Given the description of an element on the screen output the (x, y) to click on. 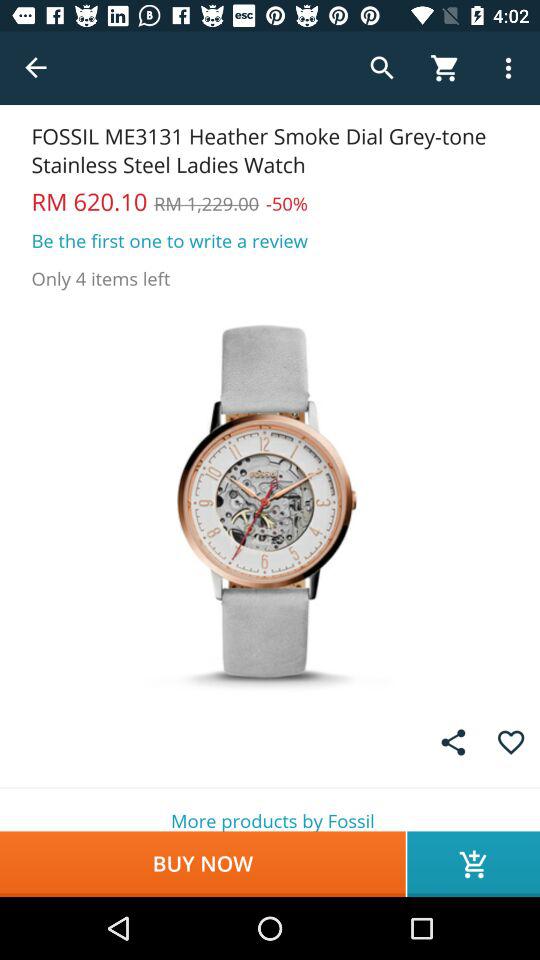
click icon below more products by item (202, 863)
